Given the description of an element on the screen output the (x, y) to click on. 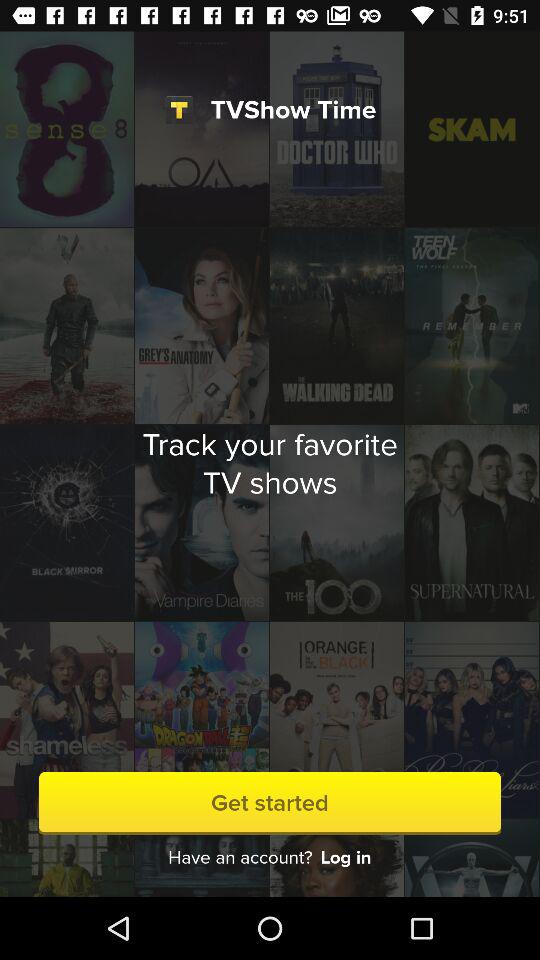
click the item to the right of the have an account? icon (345, 857)
